Given the description of an element on the screen output the (x, y) to click on. 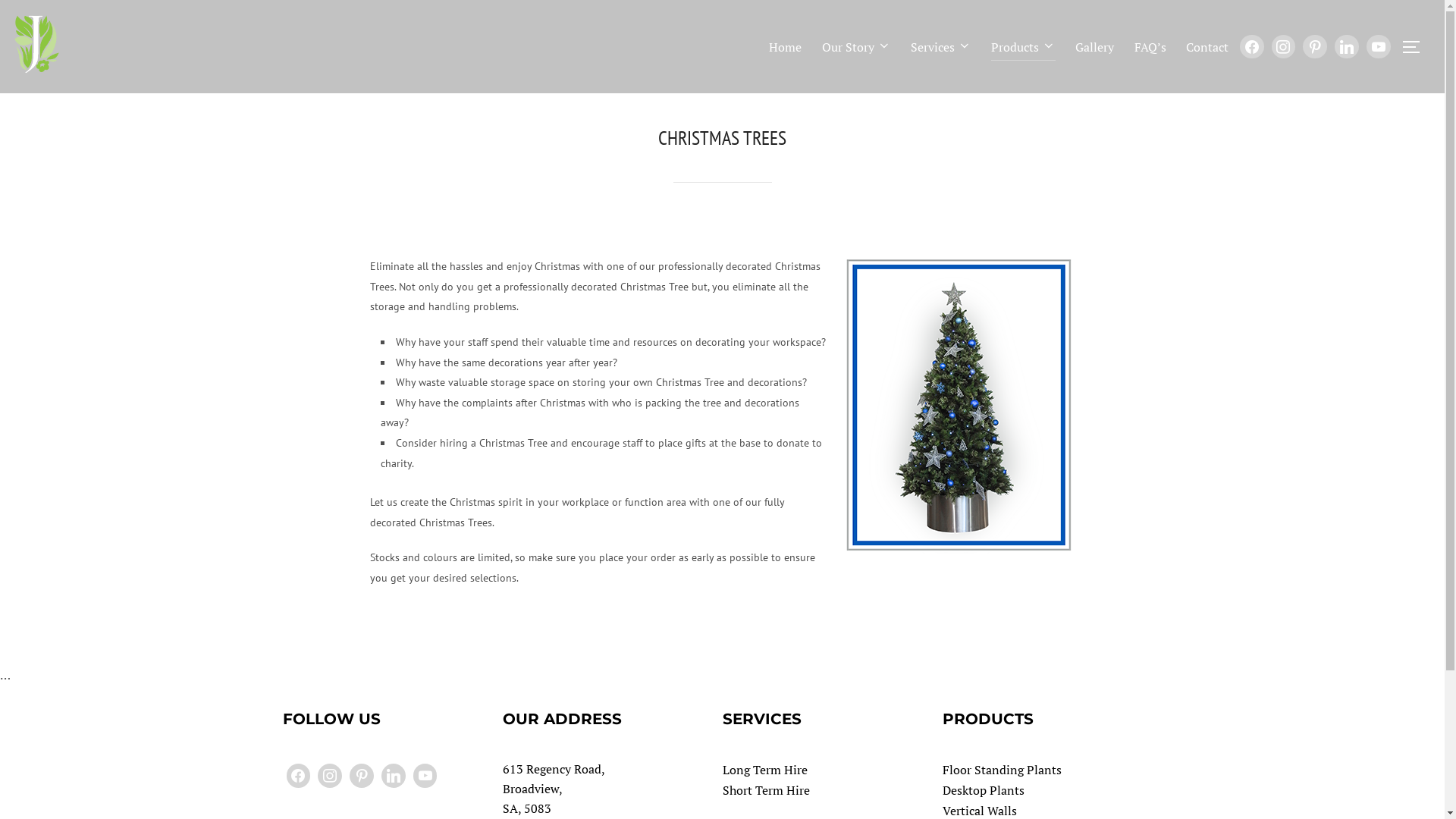
Desktop Plants Element type: text (982, 789)
Pinterest Element type: hover (1314, 46)
Contact Element type: text (1207, 46)
Youtube Element type: hover (425, 775)
Youtube Element type: hover (1378, 46)
Home Element type: text (784, 46)
Long Term Hire Element type: text (763, 769)
Gallery Element type: text (1094, 46)
Linkedin Element type: hover (1346, 46)
Short Term Hire Element type: text (765, 789)
Instagram Element type: hover (1283, 46)
Twitter Element type: hover (329, 775)
Facebook Element type: hover (1251, 46)
WordPress Element type: hover (393, 775)
Our Story Element type: text (856, 46)
Facebook Element type: hover (297, 775)
Products Element type: text (1023, 46)
Instagram Element type: hover (361, 775)
Floor Standing Plants Element type: text (1000, 769)
Services Element type: text (940, 46)
